Given the description of an element on the screen output the (x, y) to click on. 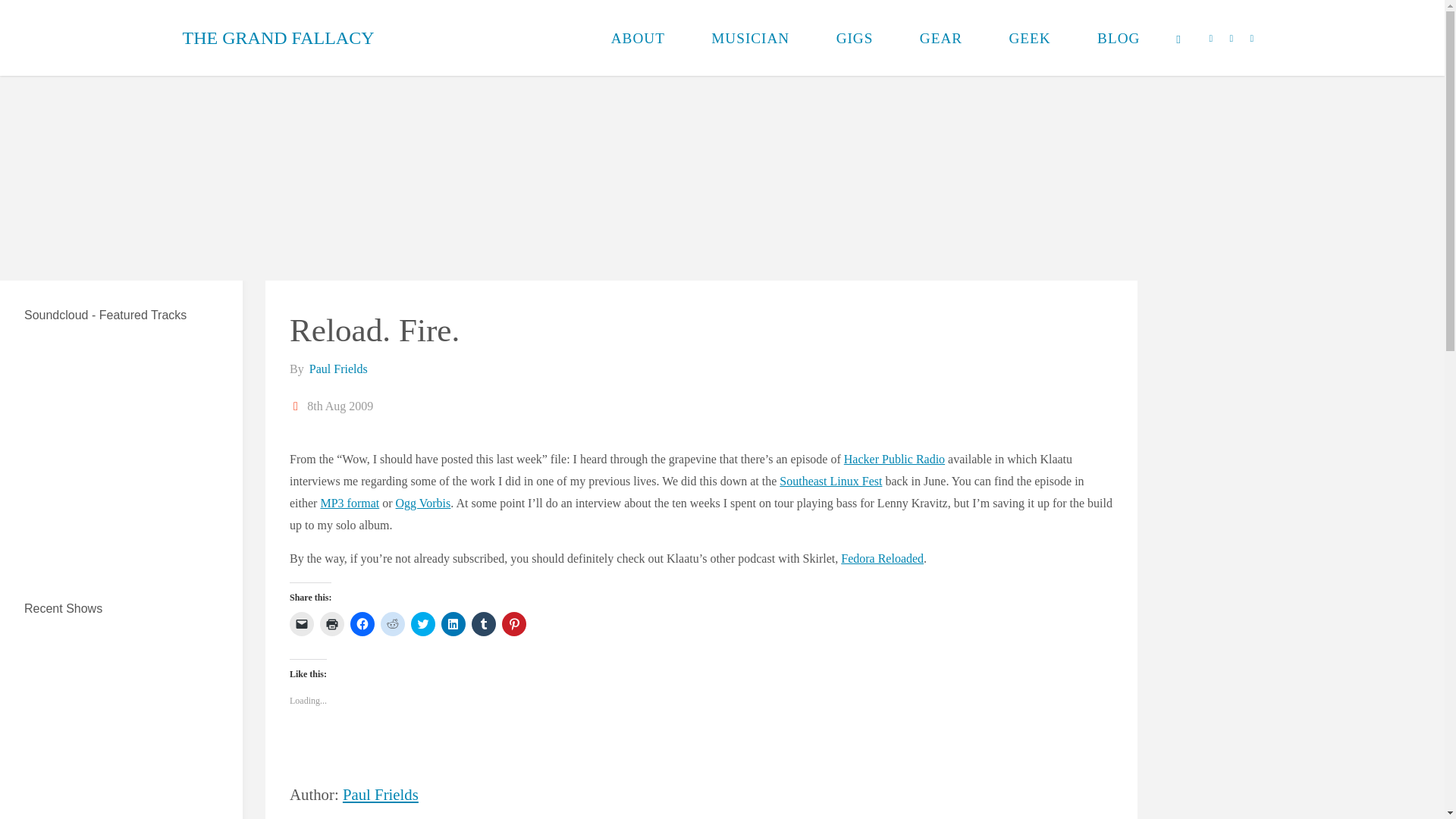
Click to share on Tumblr (483, 623)
Date (296, 405)
Click to share on Twitter (422, 623)
Hacker Public Radio (894, 459)
Click to share on Reddit (392, 623)
BLOG (1118, 38)
GEEK (1029, 38)
Ogg Vorbis (423, 502)
GIGS (854, 38)
Southeast Linux Fest (830, 481)
MP3 format (349, 502)
ABOUT (638, 38)
MUSICIAN (750, 38)
Paul Frields (337, 368)
Click to email a link to a friend (301, 623)
